Given the description of an element on the screen output the (x, y) to click on. 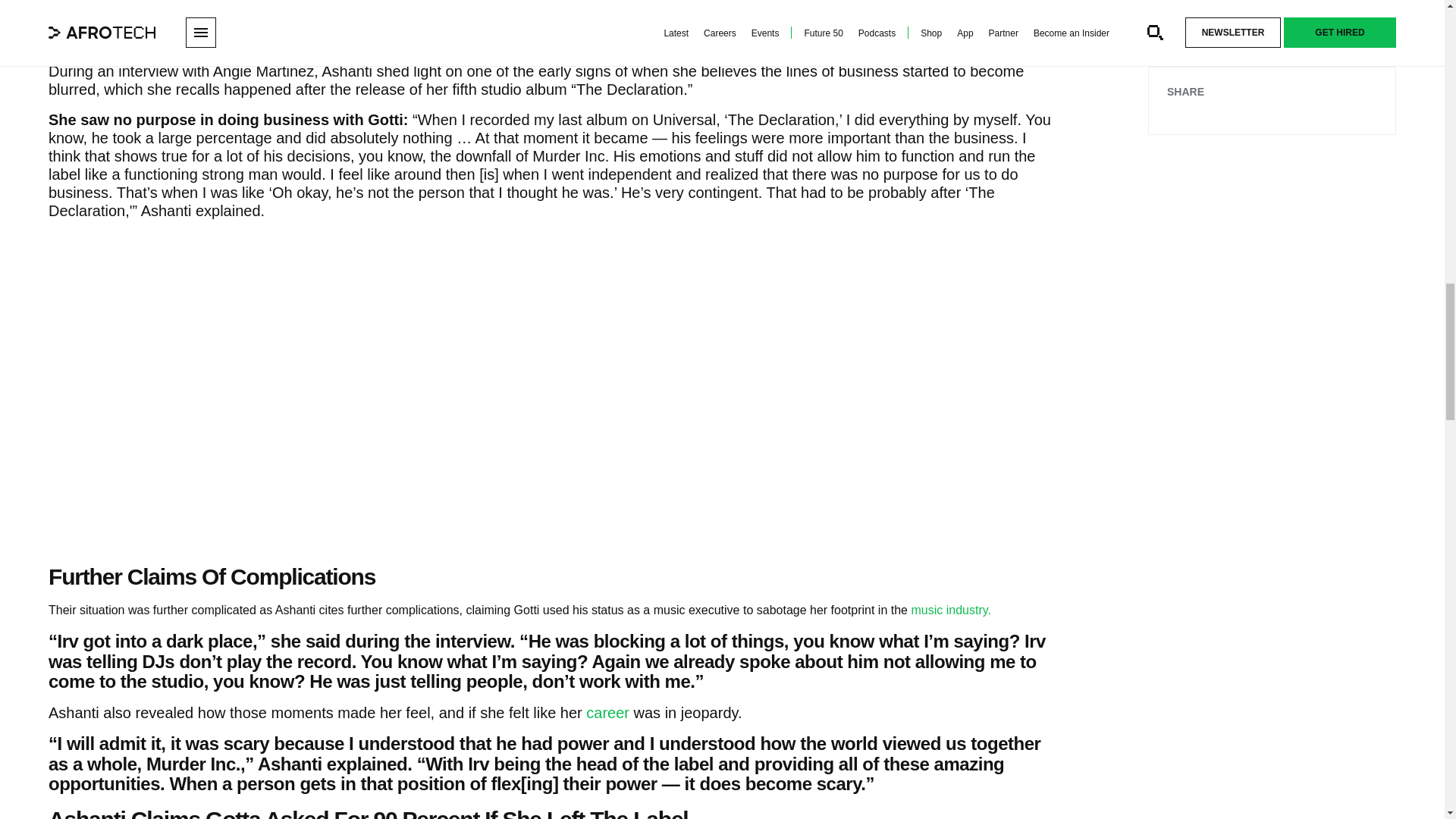
career (607, 712)
music industry. (951, 609)
